Given the description of an element on the screen output the (x, y) to click on. 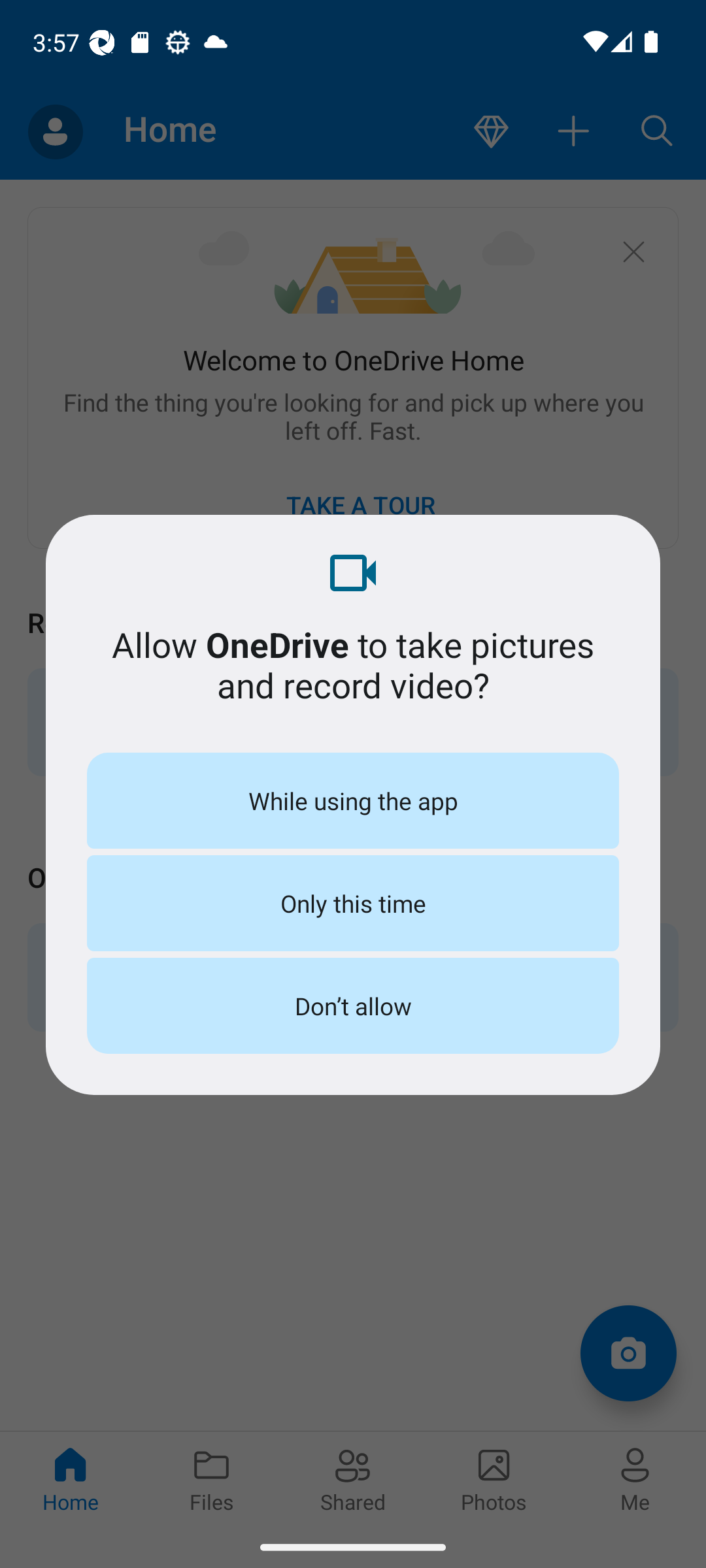
While using the app (352, 800)
Only this time (352, 902)
Don’t allow (352, 1005)
